Given the description of an element on the screen output the (x, y) to click on. 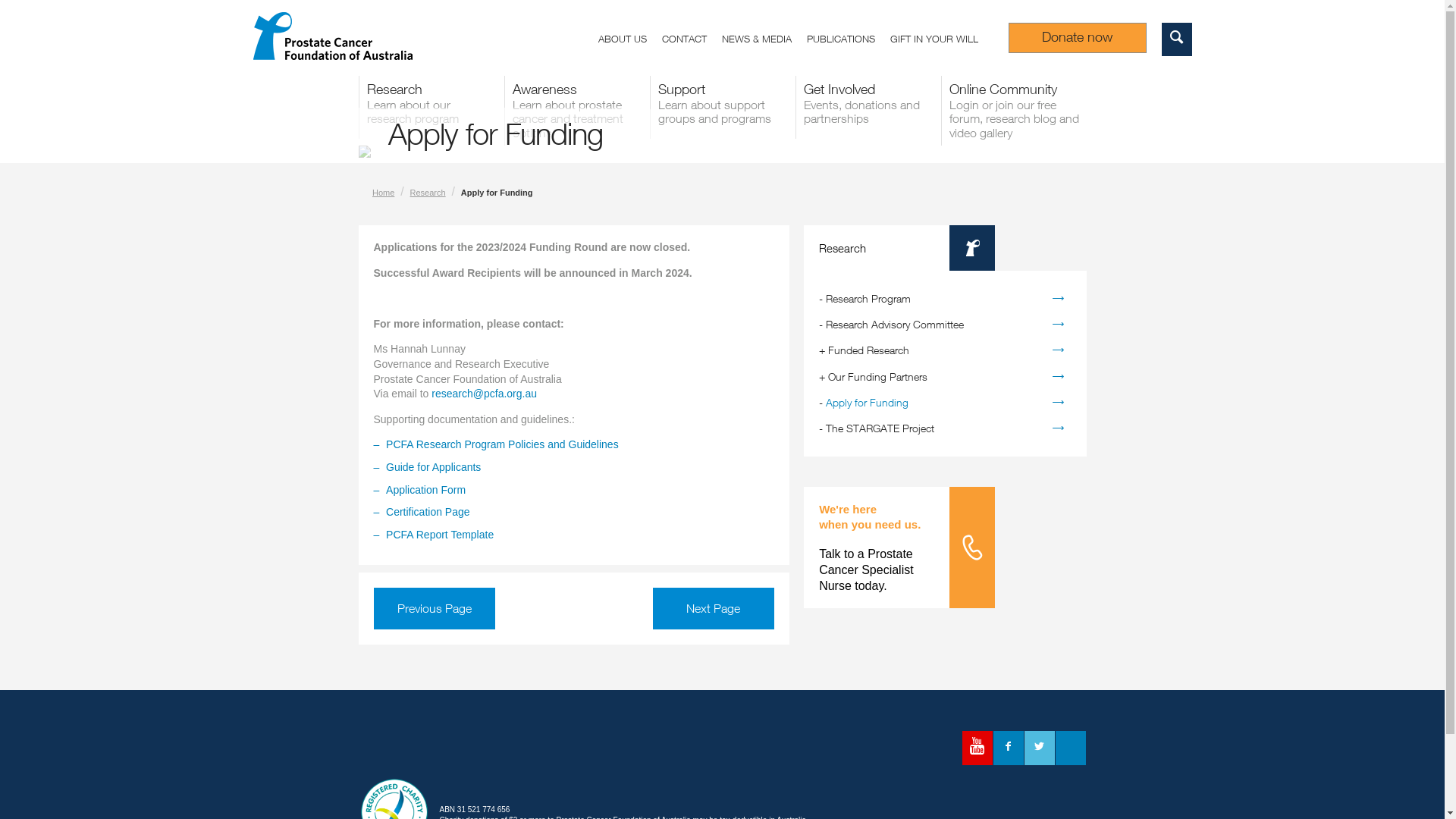
ABOUT US Element type: text (629, 40)
Logo Element type: text (425, 750)
CONTACT Element type: text (691, 40)
Next Page Element type: text (713, 608)
Facebook Element type: text (1008, 748)
Funded Research Element type: text (868, 349)
Donate now Element type: text (1077, 37)
Twitter Element type: text (1038, 748)
Awareness
Learn about prostate cancer and treatment options Element type: text (576, 110)
GIFT IN YOUR WILL Element type: text (941, 40)
Research Element type: text (427, 192)
- Research Program Element type: text (944, 298)
Application Form Element type: text (425, 489)
Research Program Element type: text (867, 297)
research@pcfa.org.au Element type: text (483, 393)
NEWS & MEDIA Element type: text (763, 40)
Home Element type: text (383, 192)
Our Funding Partners Element type: text (877, 376)
- The STARGATE Project Element type: text (944, 428)
+ Our Funding Partners Element type: text (944, 376)
Certification Page Element type: text (427, 511)
Apply for Funding Element type: text (866, 401)
YouTube Element type: text (976, 748)
Support
Learn about support groups and programs Element type: text (721, 106)
PUBLICATIONS Element type: text (848, 40)
Guide for Applicants Element type: text (432, 467)
Research
Learn about our research program Element type: text (430, 106)
PCFA Report Template Element type: text (439, 534)
PCFA Research Program Policies and Guidelines Element type: text (501, 444)
The STARGATE Project Element type: text (879, 427)
Get Involved
Events, donations and partnerships Element type: text (867, 106)
+ Funded Research Element type: text (944, 350)
Information Element type: text (971, 247)
+ Element type: text (823, 349)
- Research Advisory Committee Element type: text (944, 324)
Previous Page Element type: text (433, 608)
Research Advisory Committee Element type: text (894, 323)
+ Element type: text (823, 376)
Tele Nursing Element type: text (971, 547)
- Apply for Funding Element type: text (944, 402)
